Given the description of an element on the screen output the (x, y) to click on. 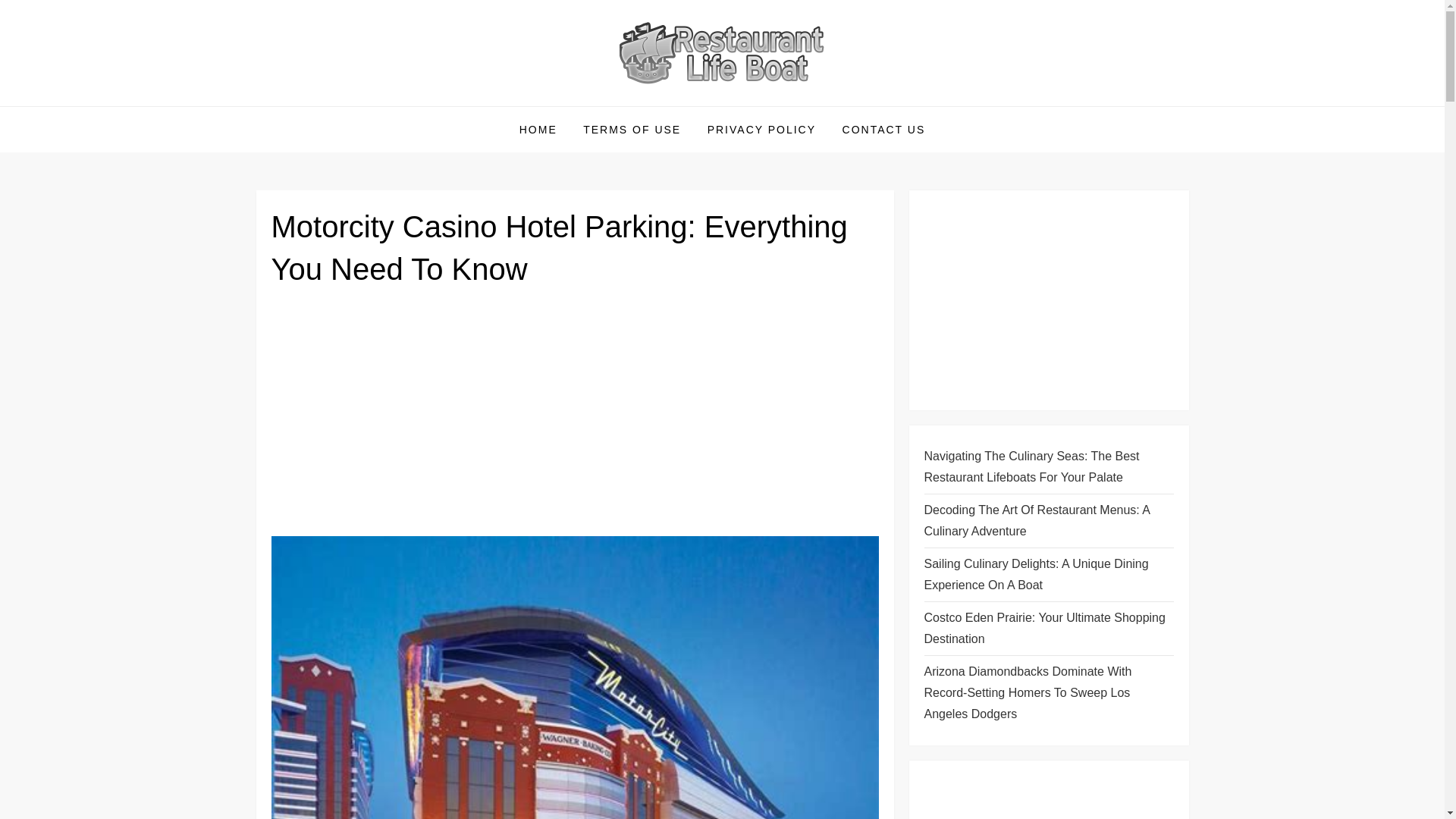
Advertisement (574, 418)
HOME (538, 129)
Decoding The Art Of Restaurant Menus: A Culinary Adventure (1048, 520)
Costco Eden Prairie: Your Ultimate Shopping Destination (1048, 628)
Advertisement (1048, 797)
Restaurant Life Boat (394, 105)
CONTACT US (884, 129)
PRIVACY POLICY (761, 129)
